Given the description of an element on the screen output the (x, y) to click on. 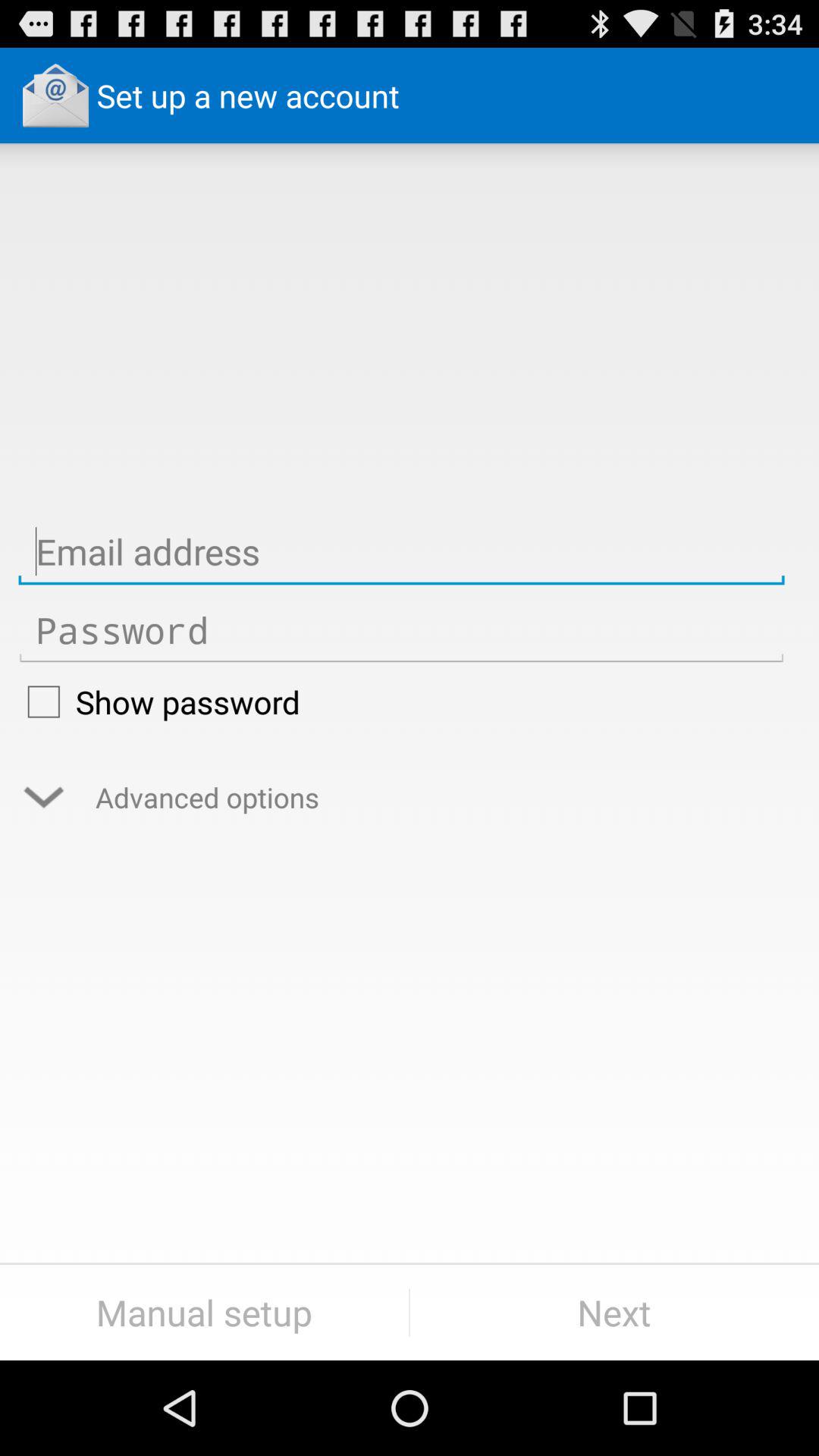
choose manual setup item (204, 1312)
